Given the description of an element on the screen output the (x, y) to click on. 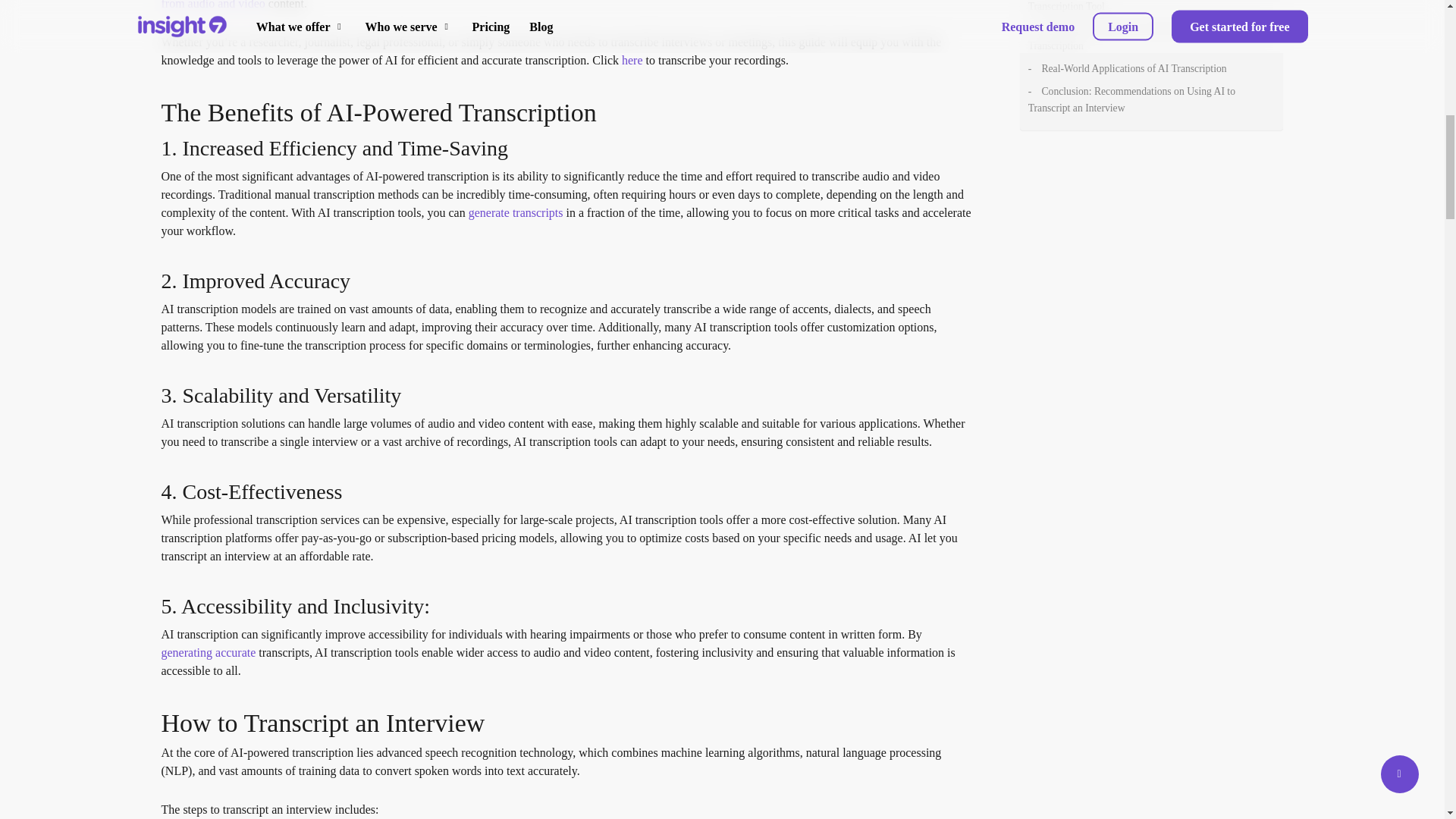
Real-World Applications of AI Transcription (1147, 68)
generating accurate (208, 652)
here (632, 60)
insights from audio and video (560, 4)
generate transcripts (515, 212)
